Given the description of an element on the screen output the (x, y) to click on. 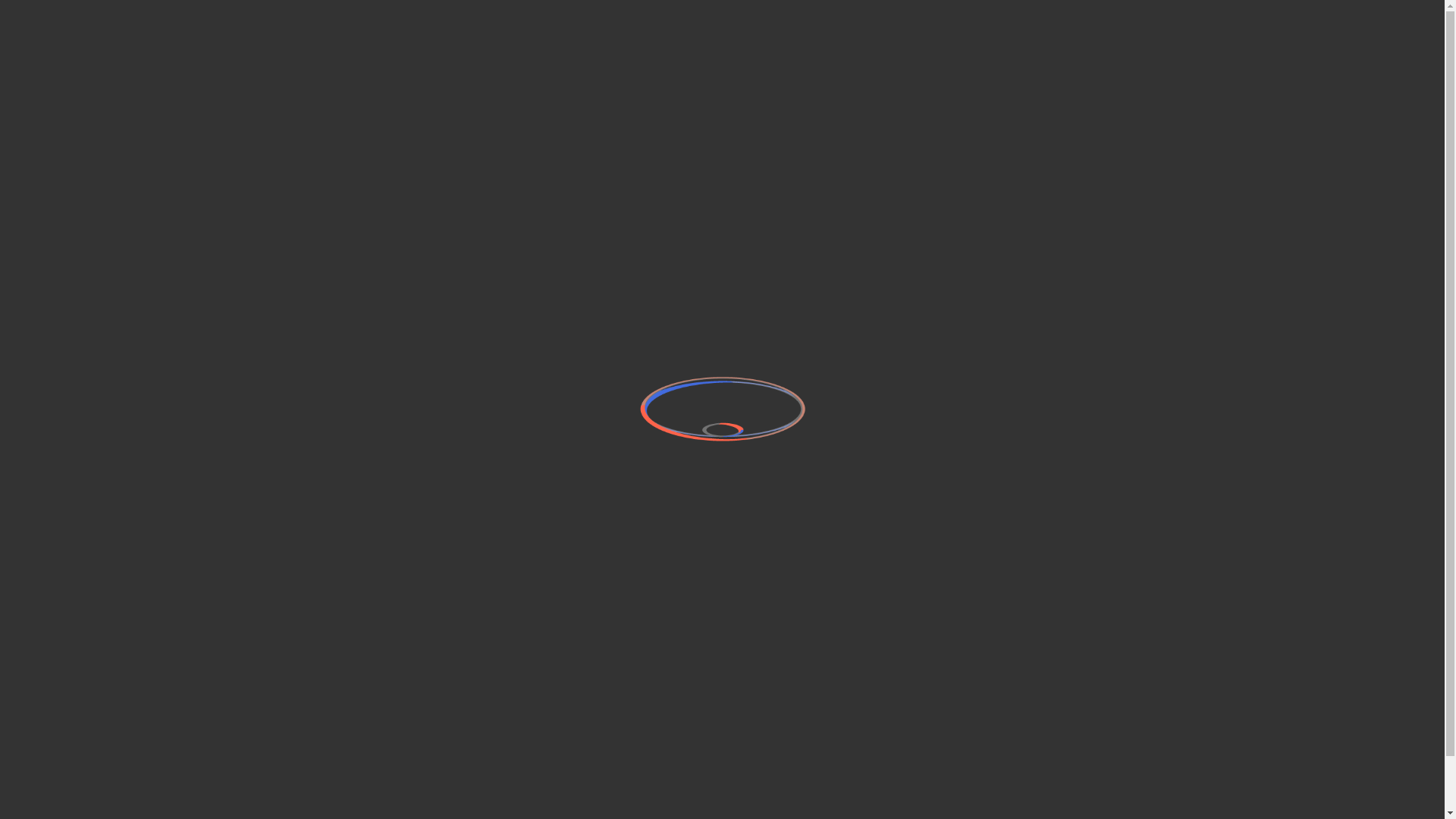
1 Element type: text (439, 699)
CERN Accelerating science Element type: text (142, 14)
Directory Element type: text (1351, 14)
BE Element type: text (1081, 43)
J Element type: text (337, 699)
ABOUT ABP Element type: text (1149, 43)
Contact Element type: text (533, 693)
Home Element type: hover (230, 43)
W Element type: text (371, 699)
SECTIONS Element type: text (1239, 43)
v Element type: text (302, 699)
Skip to main content Element type: text (0, 0)
CERN Element type: hover (1118, 681)
M Element type: text (406, 699)
Sign in Element type: text (1301, 14)
SEARCH Element type: text (1326, 43)
